Given the description of an element on the screen output the (x, y) to click on. 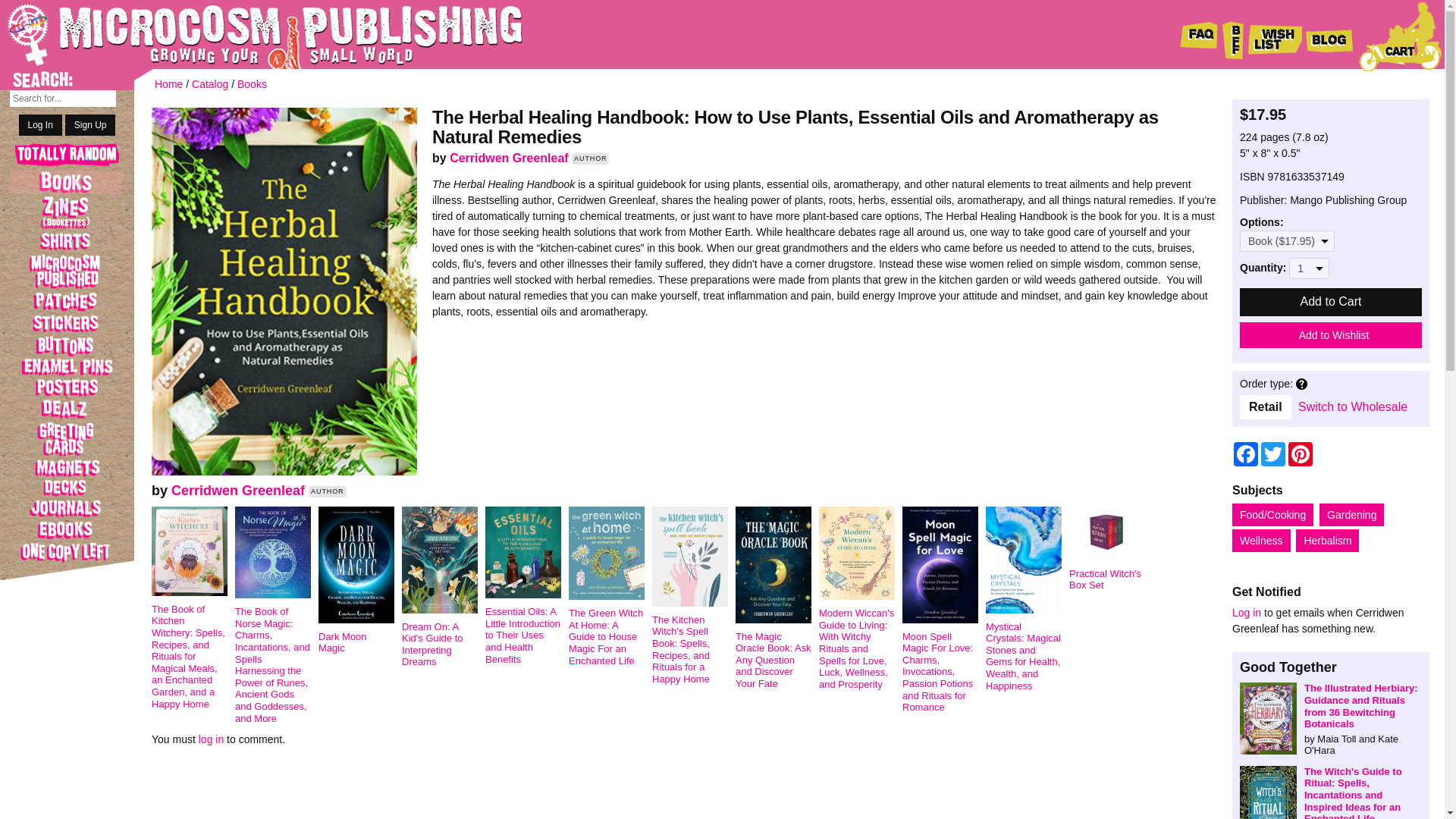
Totally Random (66, 156)
Zines (66, 212)
Log In (40, 124)
Shirts (66, 241)
Add to Wishlist (1331, 335)
cart (1399, 36)
Practical Witch's Box Set (1110, 570)
back to Microcosm Publishing homepage (242, 34)
